Given the description of an element on the screen output the (x, y) to click on. 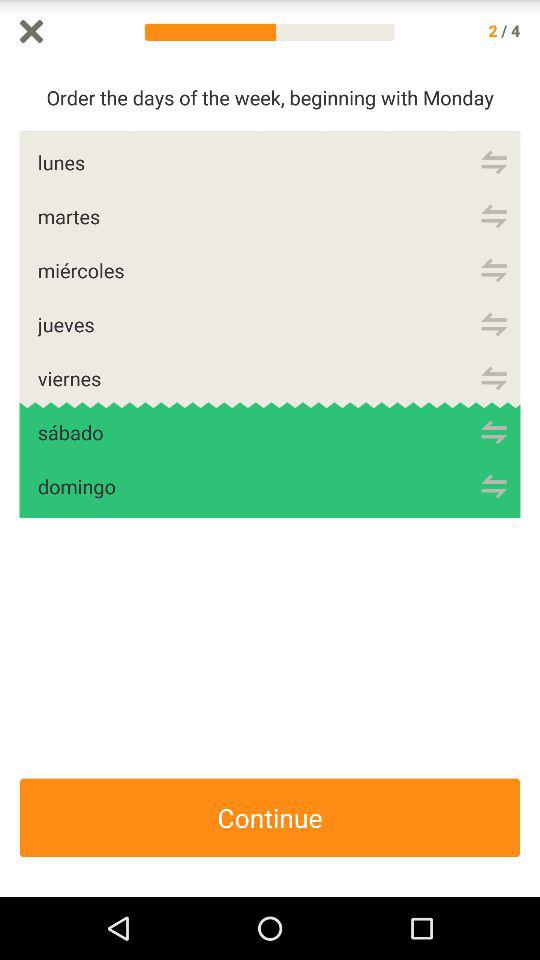
refresh sabdo (494, 432)
